Given the description of an element on the screen output the (x, y) to click on. 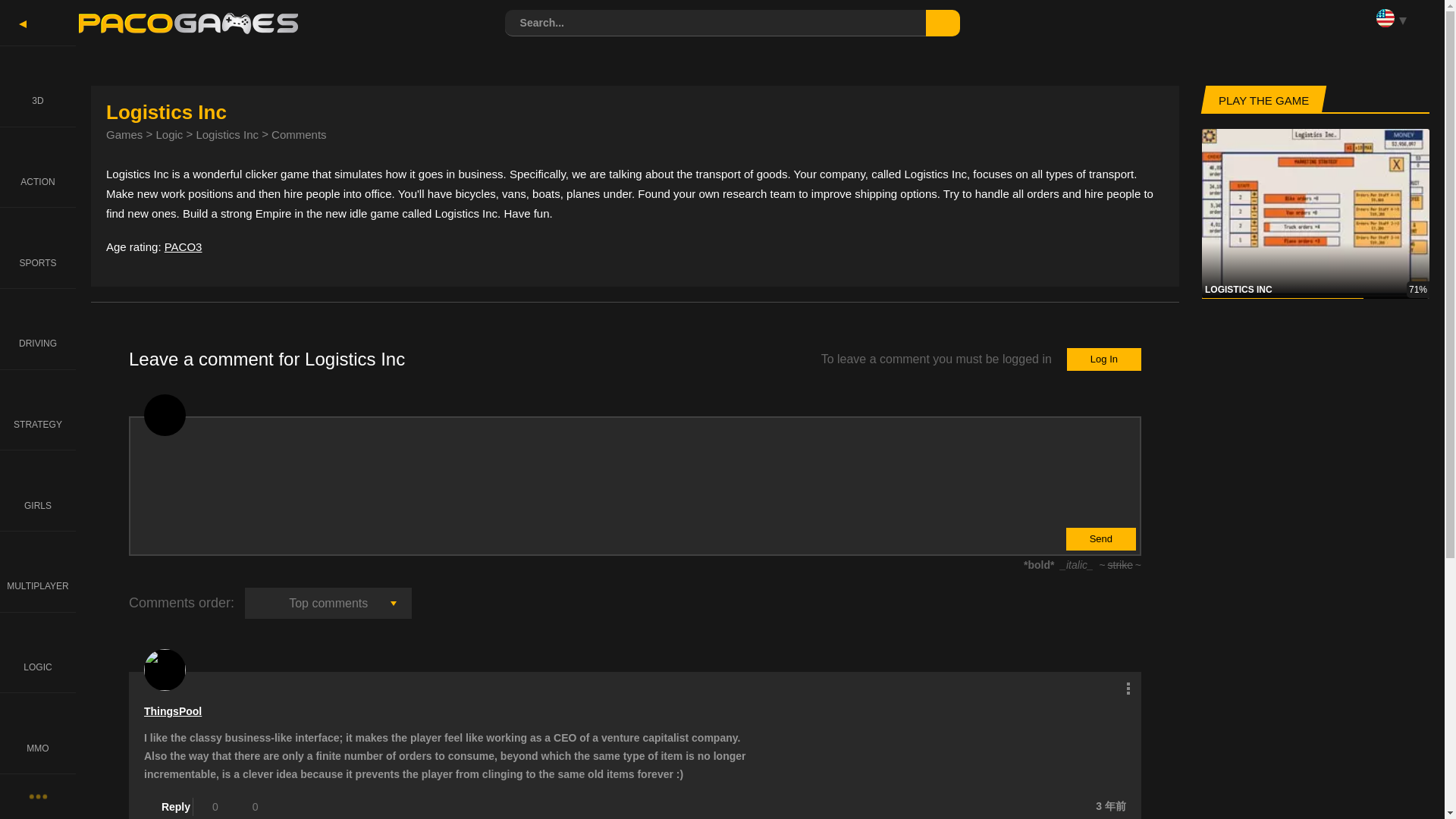
Sports Games (37, 247)
STRATEGY (37, 409)
Comments (298, 133)
ACTION (37, 167)
Strategy Games (37, 409)
MMO (37, 732)
Driving Games (37, 328)
PACO3 (183, 246)
SPORTS (37, 247)
Log In (1104, 359)
